Given the description of an element on the screen output the (x, y) to click on. 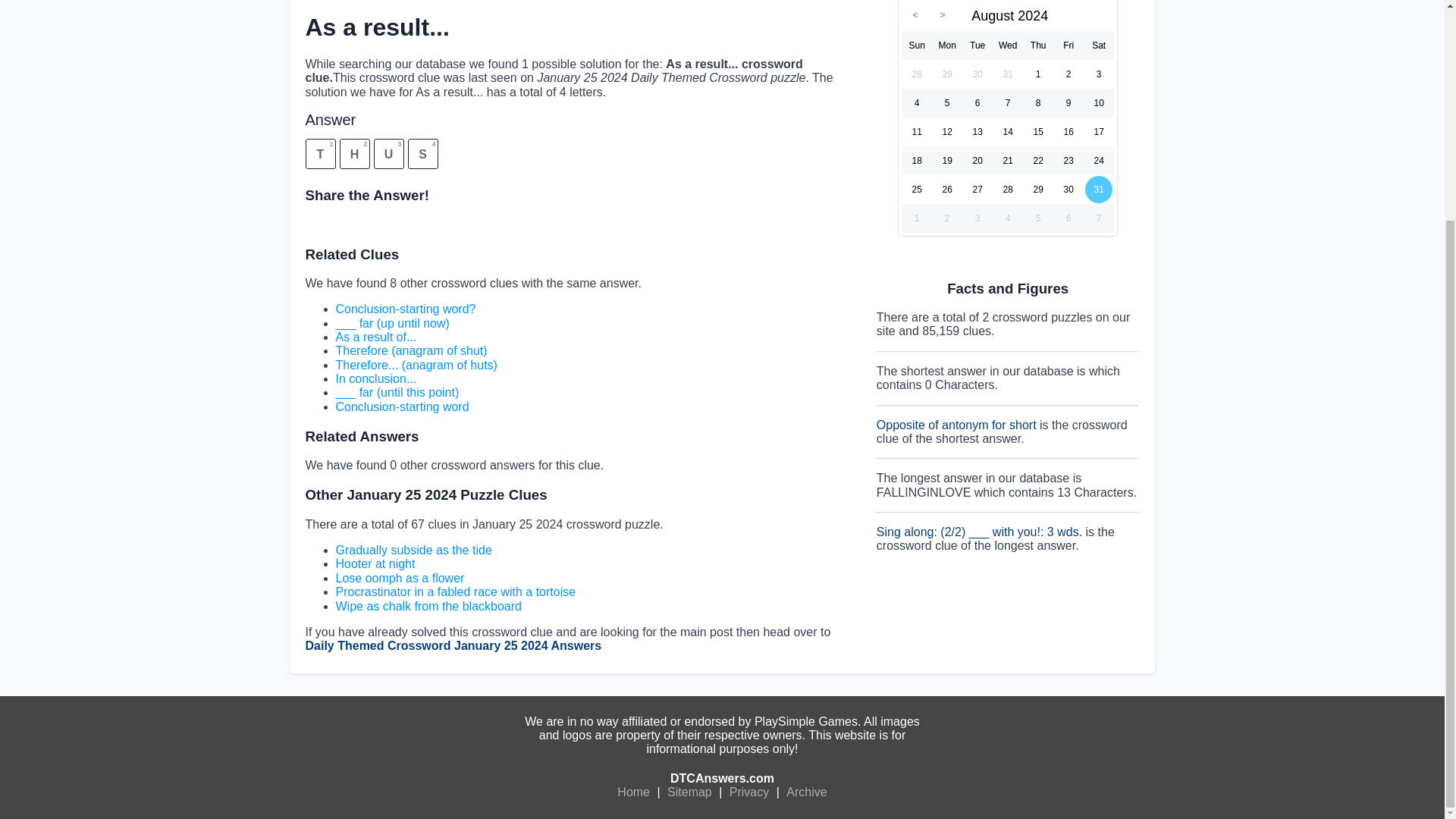
DTCAnswers.com (721, 778)
Conclusion-starting word? (405, 308)
Sitemap (689, 792)
Opposite of antonym for short (956, 424)
Archive (806, 792)
Gradually subside as the tide (413, 549)
In conclusion... (375, 378)
Home (632, 792)
Hooter at night (374, 563)
Procrastinator in a fabled race with a tortoise (454, 591)
